Given the description of an element on the screen output the (x, y) to click on. 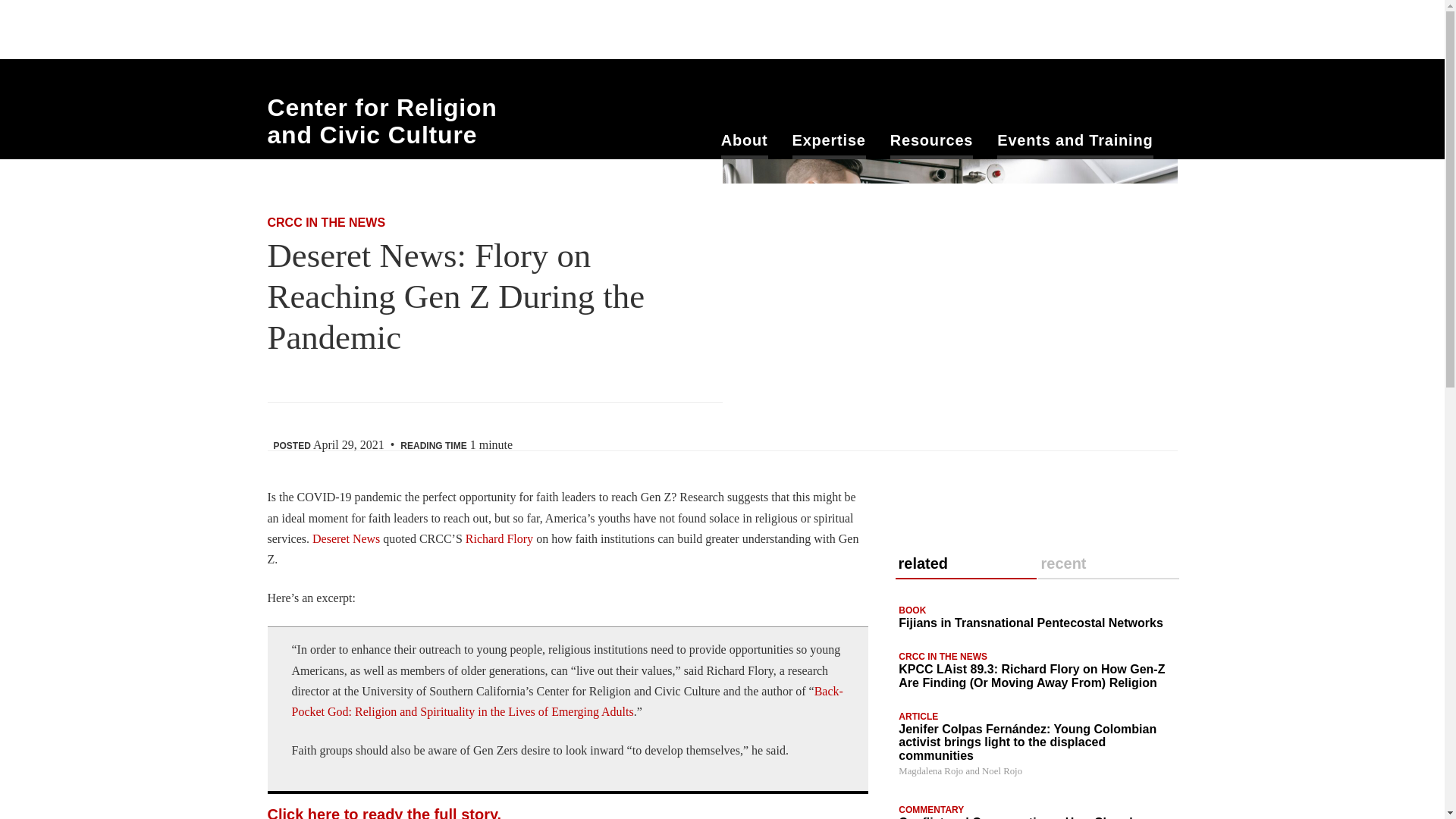
Events and Training (1075, 145)
Expertise (829, 145)
Deseret News (346, 538)
Richard Flory (498, 538)
Center for Religion and Civic Culture (381, 121)
Click here to ready the full story. (383, 812)
USC Dornsife College Of Letters Arts and Sciences (349, 30)
About (744, 145)
Resources (930, 145)
University of Southern California (1081, 28)
